Given the description of an element on the screen output the (x, y) to click on. 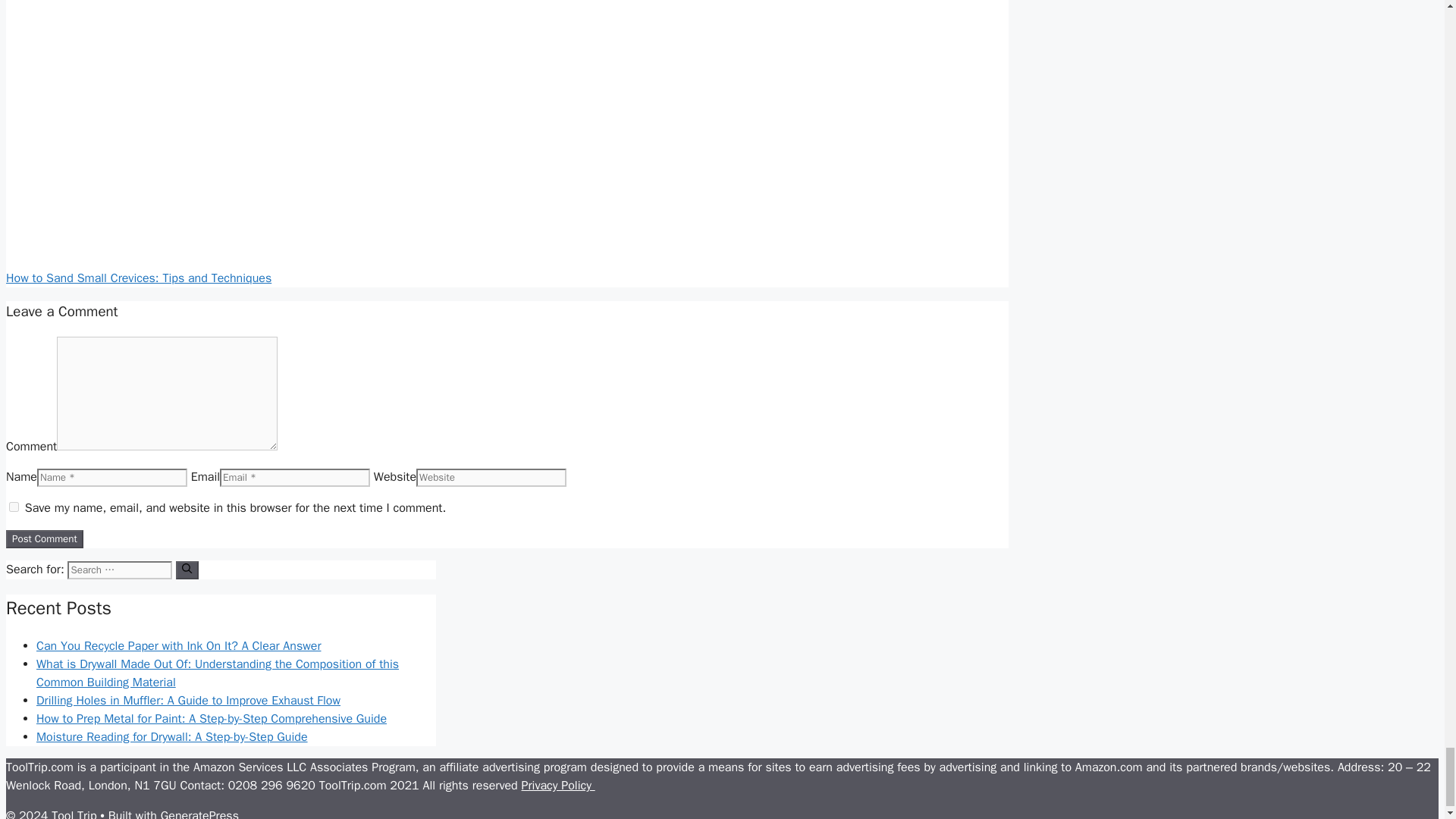
Post Comment (43, 538)
yes (13, 506)
